Given the description of an element on the screen output the (x, y) to click on. 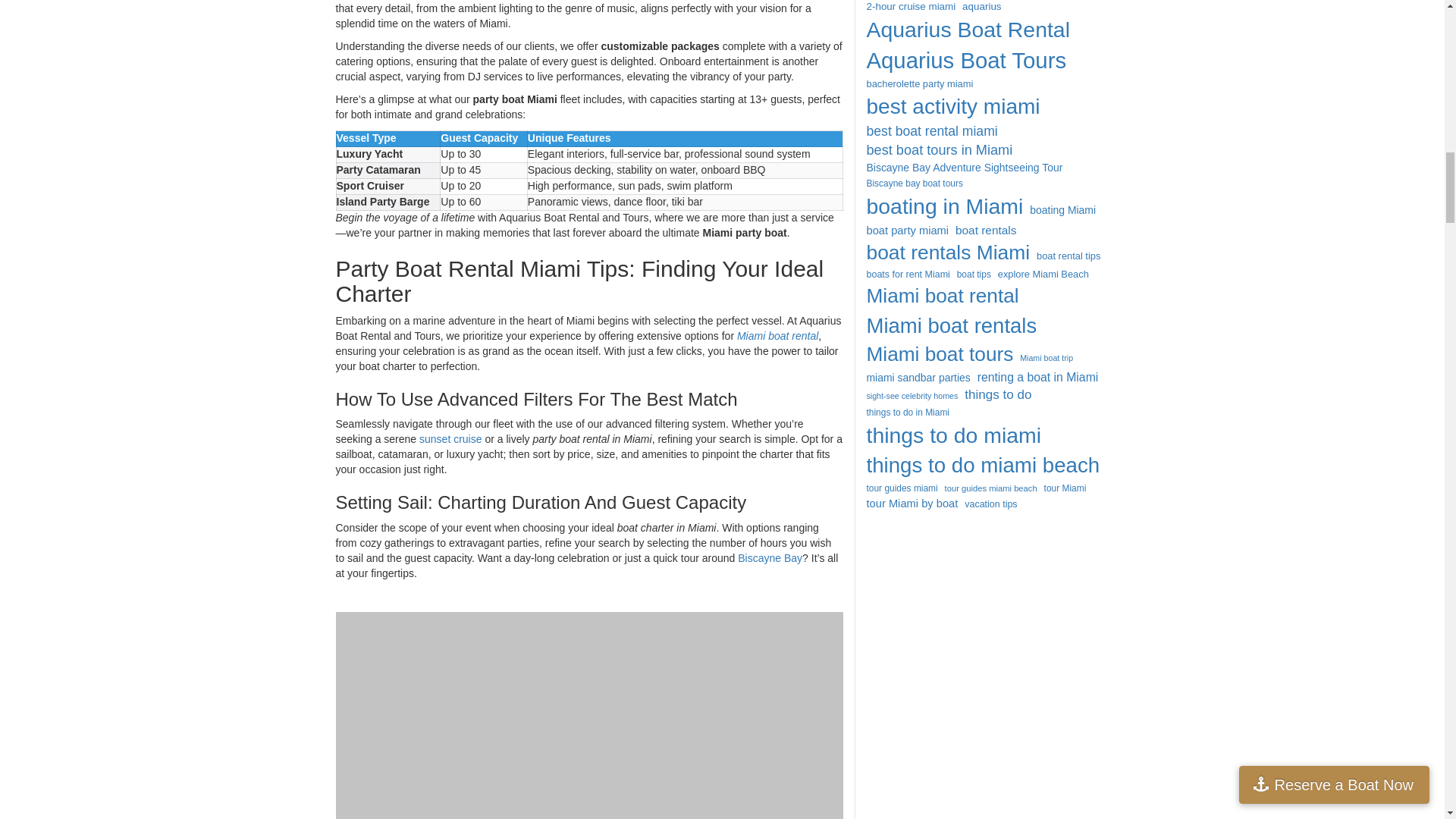
Biscayne Bay Florida (770, 558)
sunset cruise (450, 439)
Party Boat Rental Options In Miami (588, 715)
Miami boat rental (777, 336)
